Given the description of an element on the screen output the (x, y) to click on. 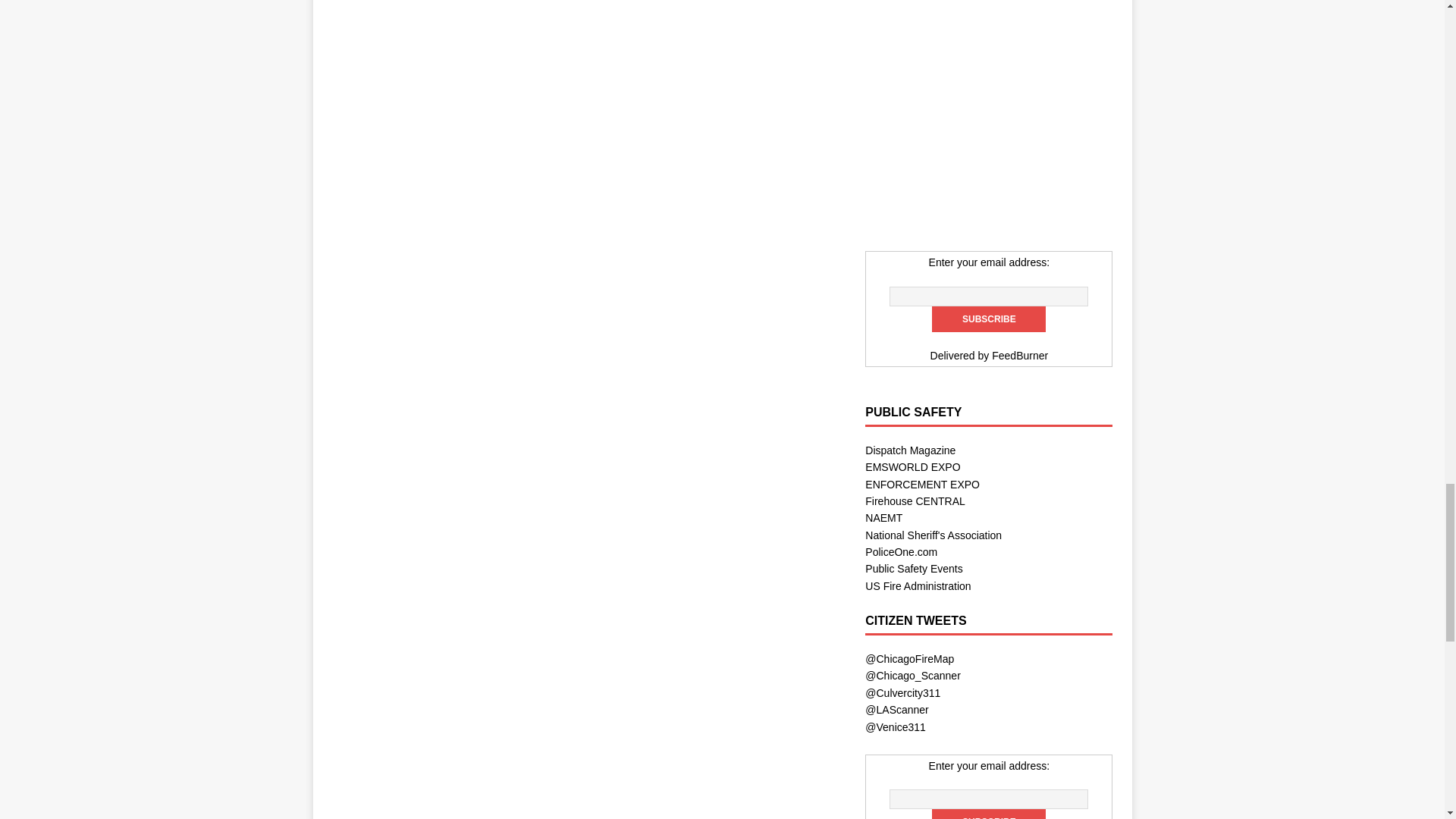
Monitoring the crime and shootings in Chicago. (912, 675)
Subscribe (988, 814)
National leadership for fire and emergency services (917, 585)
Subscribe (988, 319)
